Given the description of an element on the screen output the (x, y) to click on. 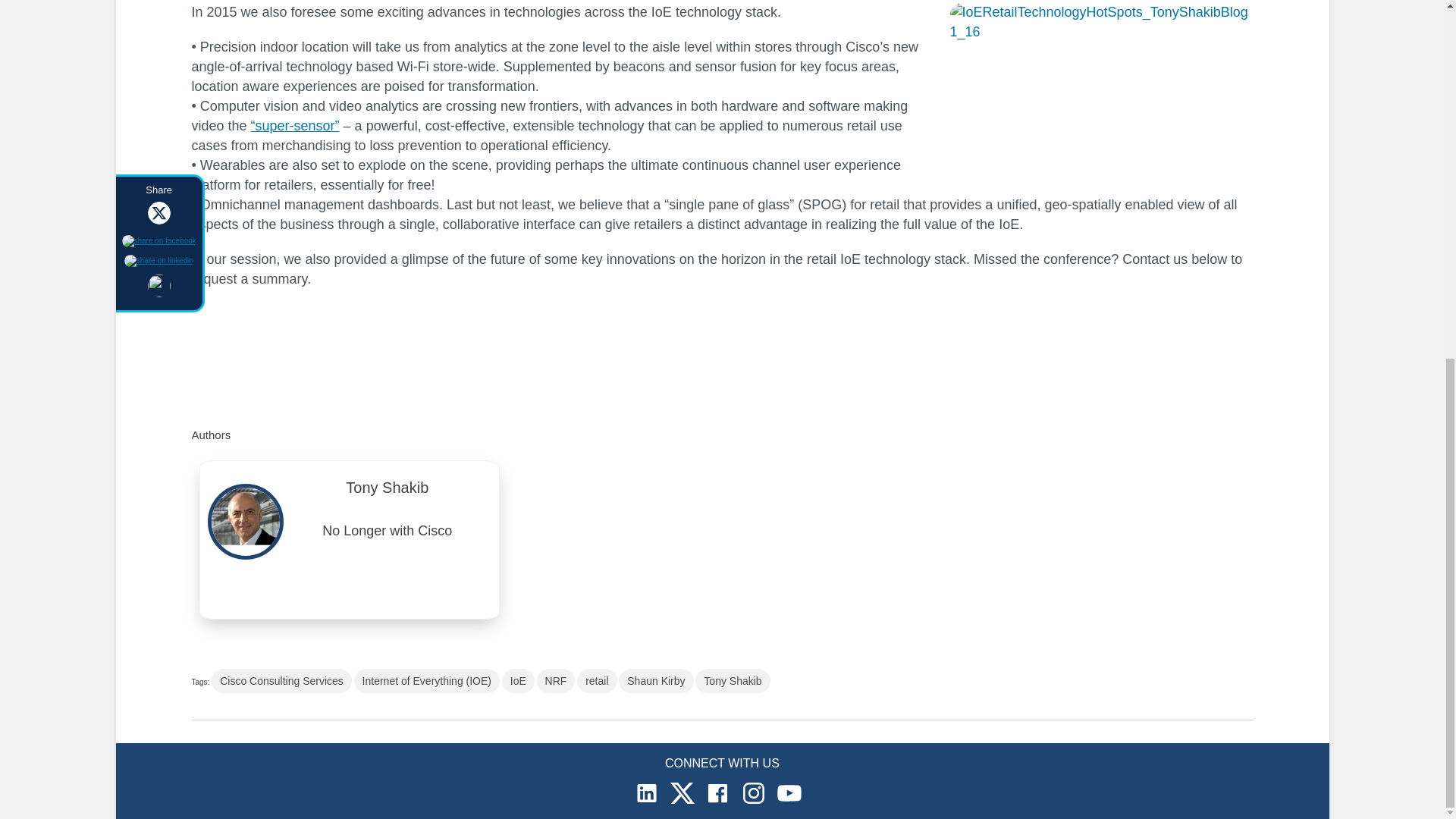
IoE (518, 680)
retail (595, 680)
Tony Shakib (387, 490)
Tony Shakib (732, 680)
Shaun Kirby (655, 680)
NRF (556, 680)
Cisco Consulting Services (281, 680)
